Given the description of an element on the screen output the (x, y) to click on. 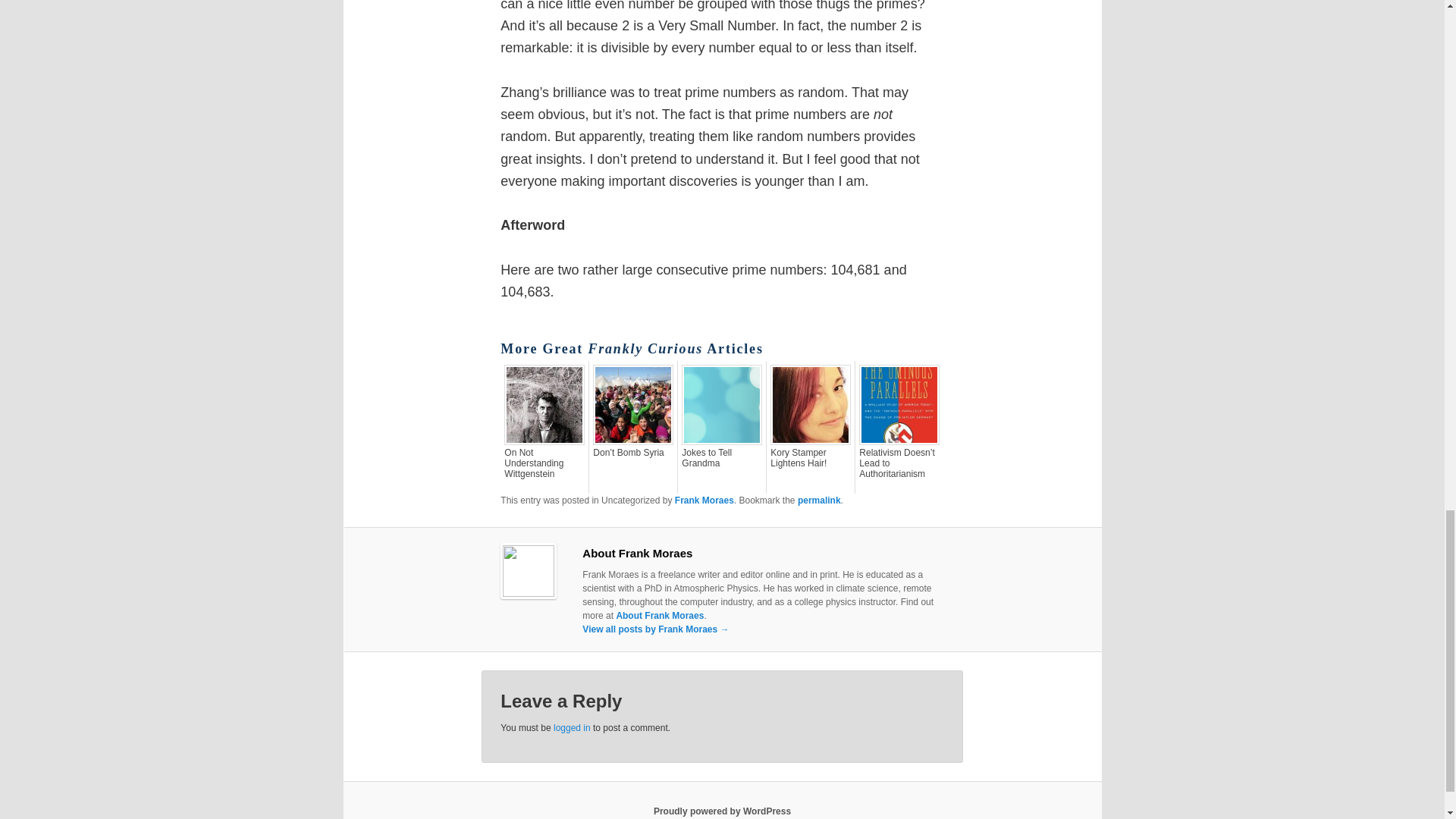
Frank Moraes (704, 500)
Jokes to Tell Grandma (721, 457)
Semantic Personal Publishing Platform (721, 810)
logged in (572, 727)
Proudly powered by WordPress (721, 810)
About Frank Moraes (659, 615)
permalink (819, 500)
Kory Stamper Lightens Hair! (810, 457)
Permalink to Prime Numbers and Random Assumptions (819, 500)
On Not Understanding Wittgenstein (544, 463)
